Given the description of an element on the screen output the (x, y) to click on. 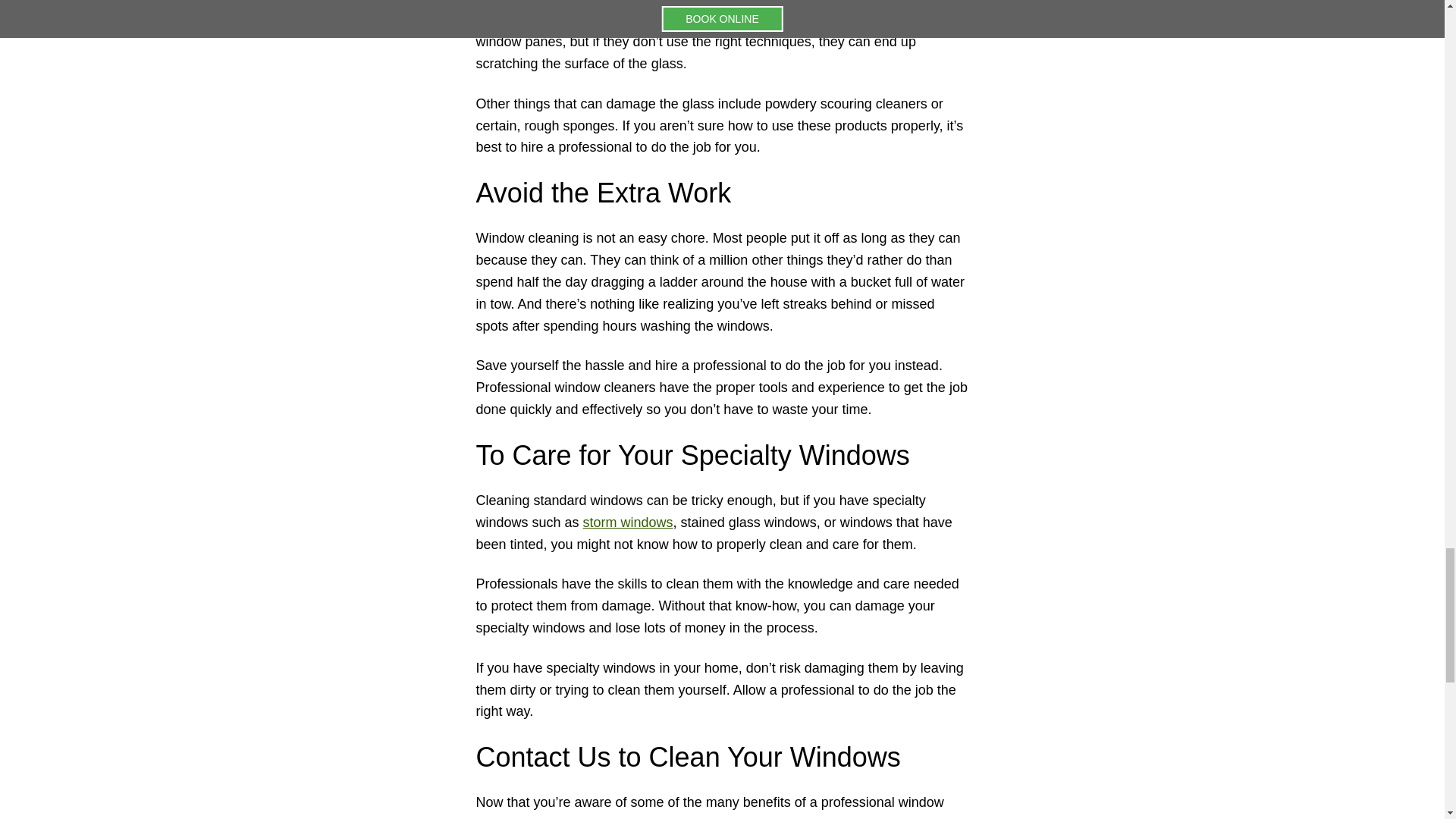
storm windows (627, 522)
contact us (710, 817)
